Given the description of an element on the screen output the (x, y) to click on. 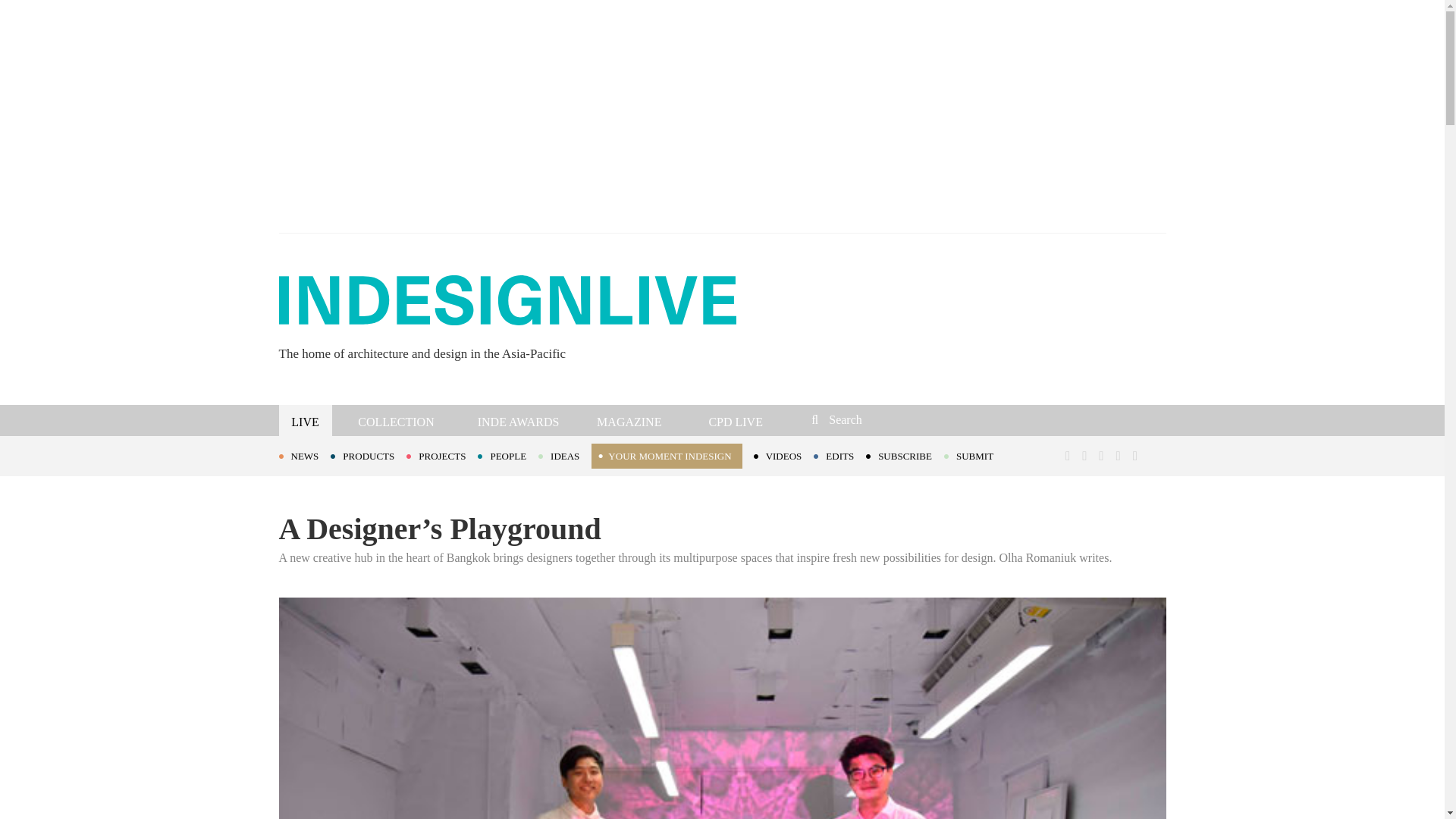
YOUR MOMENT INDESIGN (666, 455)
SUBSCRIBE (904, 455)
Search (913, 418)
NEWS (305, 455)
SUBMIT (974, 455)
IDEAS (564, 455)
PEOPLE (507, 455)
EDITS (839, 455)
PROJECTS (441, 455)
PRODUCTS (368, 455)
